Given the description of an element on the screen output the (x, y) to click on. 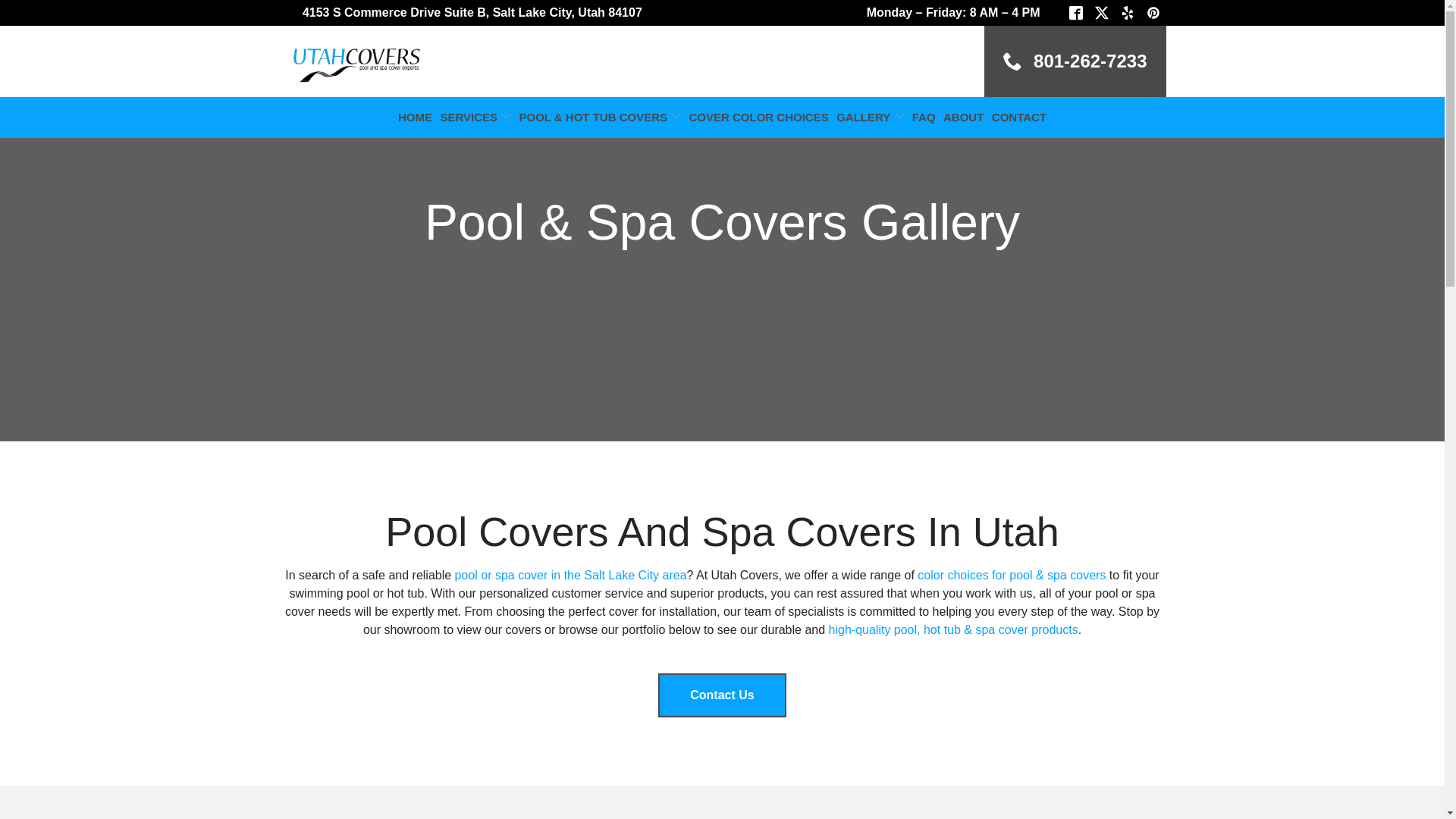
SERVICES (475, 116)
801-262-7233 (1075, 61)
4153 S Commerce Drive Suite B, Salt Lake City, Utah 84107 (472, 13)
HOME (414, 116)
